Given the description of an element on the screen output the (x, y) to click on. 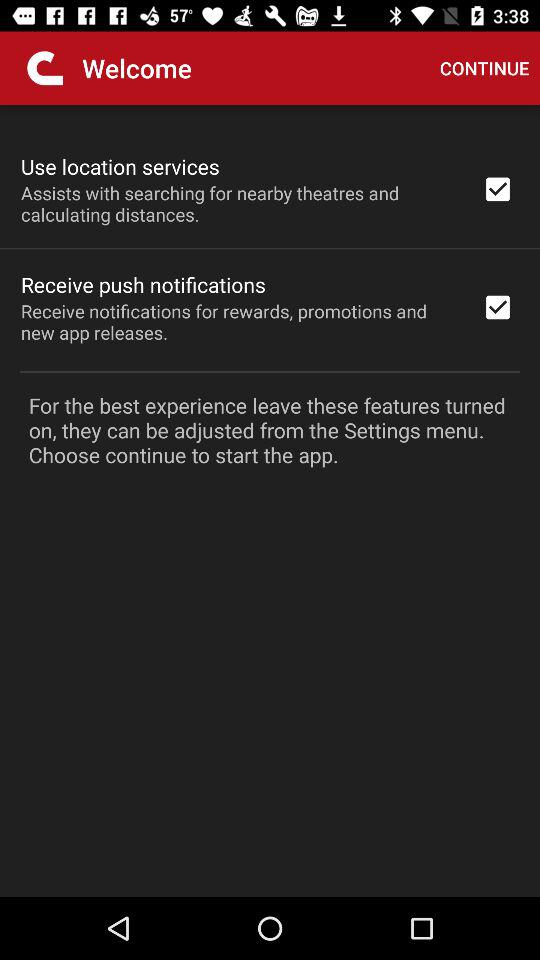
scroll to use location services (120, 166)
